Given the description of an element on the screen output the (x, y) to click on. 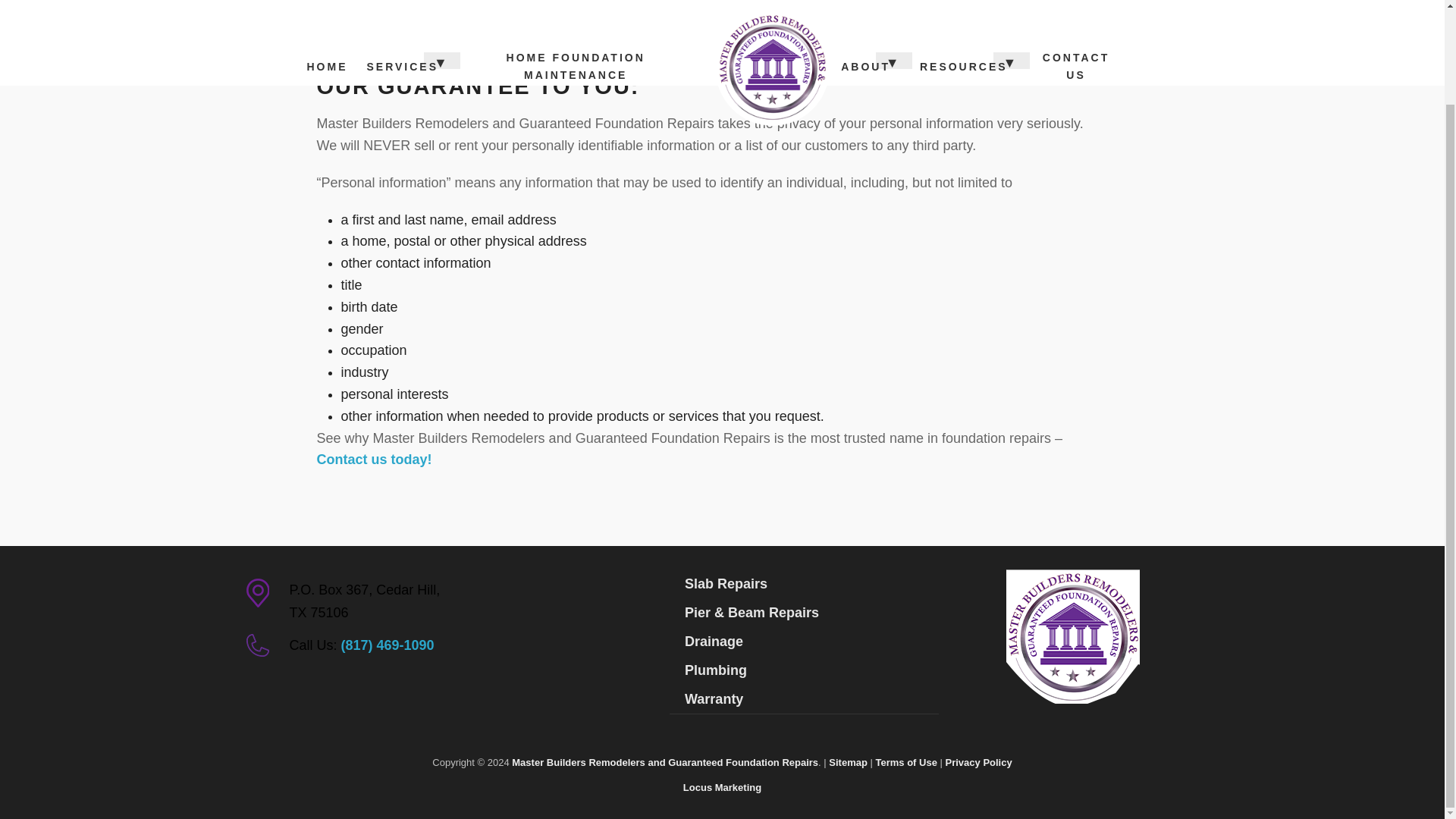
Terms of Use (905, 762)
Contact us today! (374, 459)
Plumbing (804, 670)
Warranty (804, 698)
ABOUT (865, 7)
Drainage (804, 641)
Master Builders Remodelers and Guaranteed Foundation Repairs (665, 762)
HOME (327, 7)
HOME FOUNDATION MAINTENANCE (575, 11)
Contact Us (374, 459)
